Given the description of an element on the screen output the (x, y) to click on. 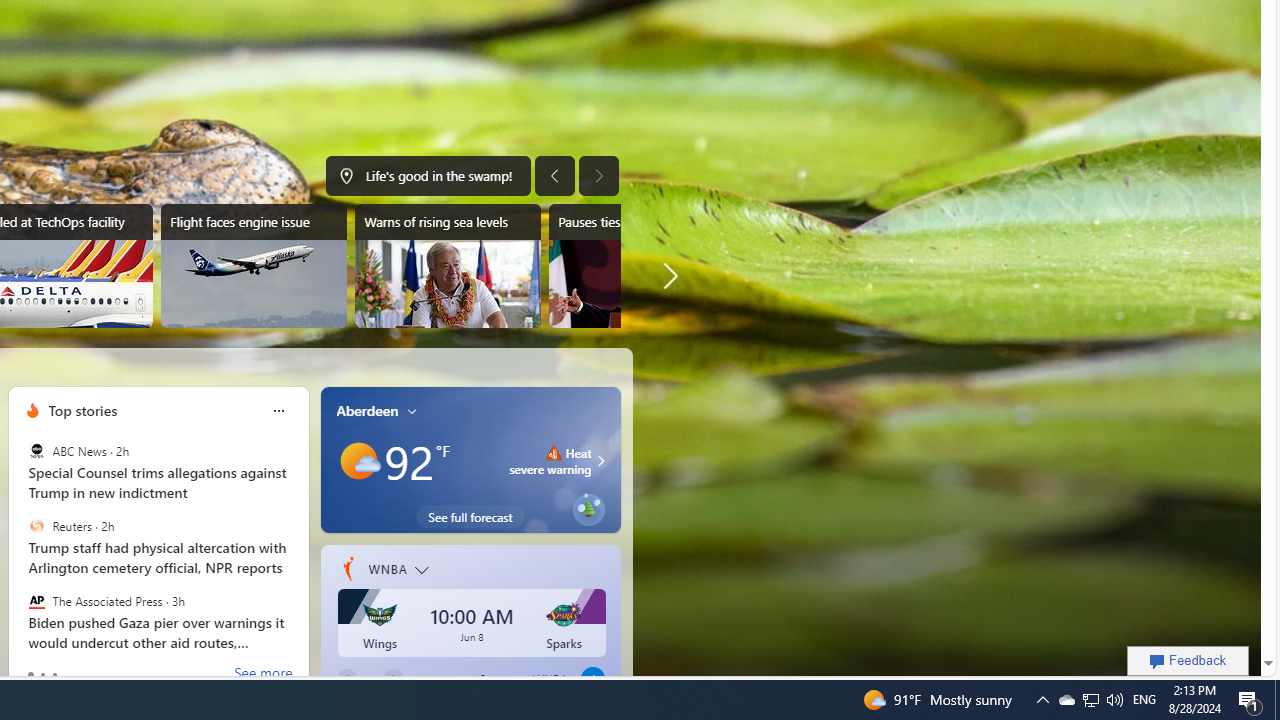
drop down (427, 572)
See more (263, 674)
Previous (346, 678)
Pauses ties with US embassy (640, 265)
Class: icon-img (411, 410)
Grow a virtual seed into a real tree (588, 506)
See more WNBA (507, 678)
Aberdeen (367, 410)
Life's good in the swamp! (428, 175)
tab-0 (30, 674)
Wings10:00 AMJun 8Sparks (472, 625)
